Given the description of an element on the screen output the (x, y) to click on. 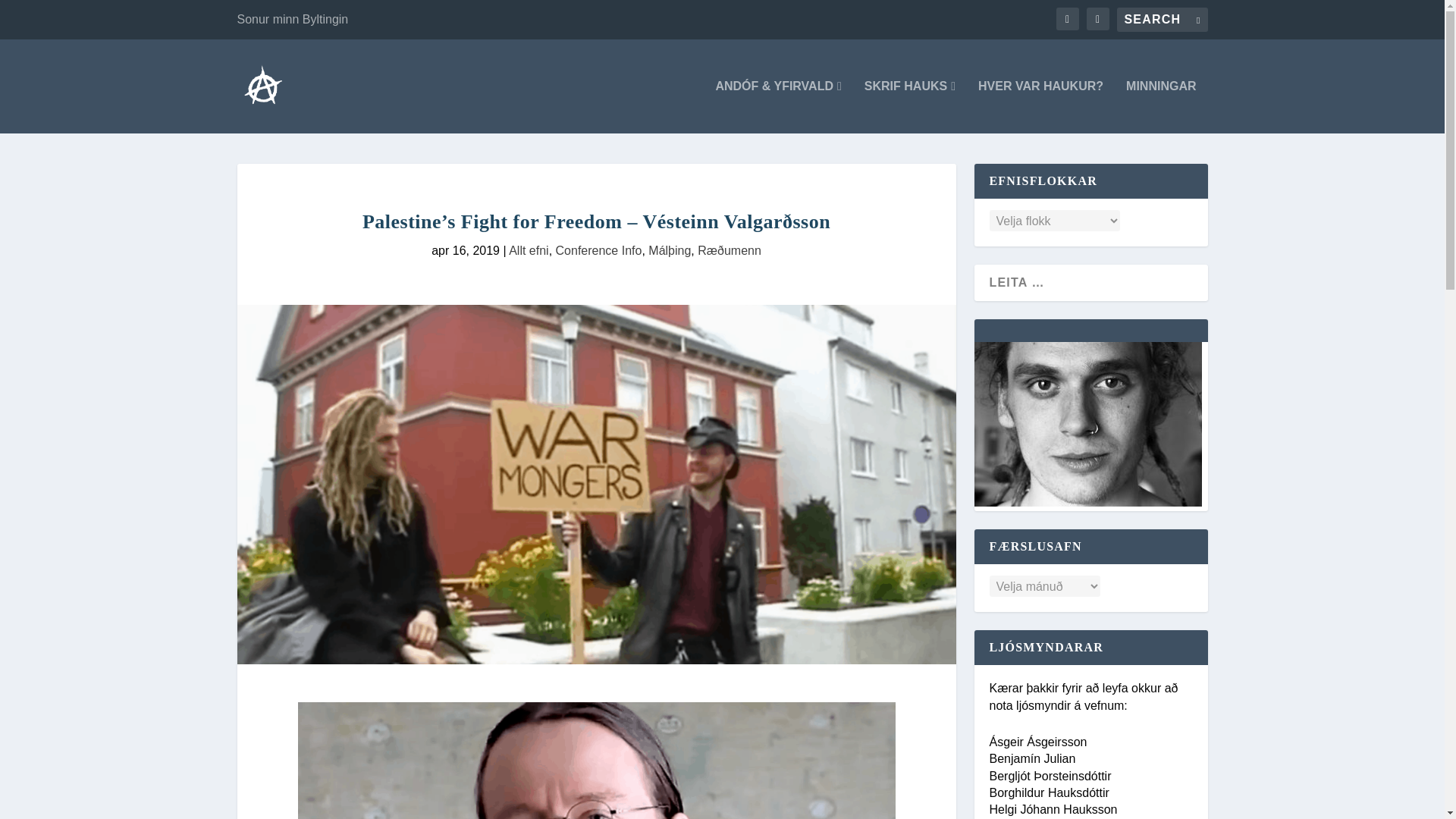
Allt efni (528, 250)
Search for: (1161, 19)
HVER VAR HAUKUR? (1040, 106)
Conference Info (599, 250)
MINNINGAR (1160, 106)
SKRIF HAUKS (909, 106)
Sonur minn Byltingin (291, 19)
